Given the description of an element on the screen output the (x, y) to click on. 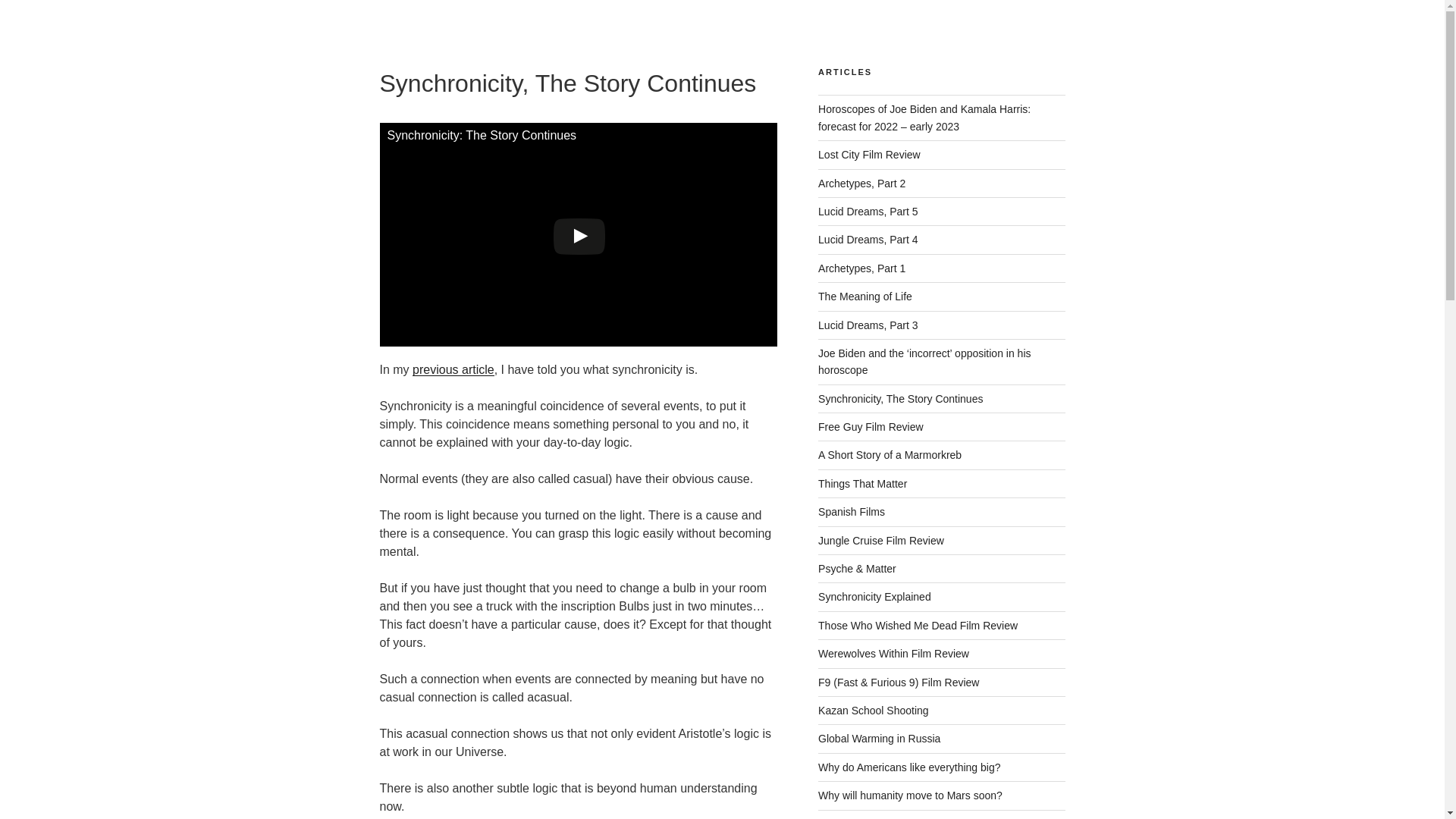
Lucid Dreams, Part 4 (868, 239)
Spanish Films (851, 511)
Archetypes, Part 2 (861, 183)
Archetypes, Part 1 (861, 268)
A Short Story of a Marmorkreb (889, 454)
Things That Matter (862, 483)
Free Guy Film Review (870, 426)
Synchronicity: The Story Continues (577, 234)
Lost City Film Review (869, 154)
Synchronicity, The Story Continues (900, 398)
